Given the description of an element on the screen output the (x, y) to click on. 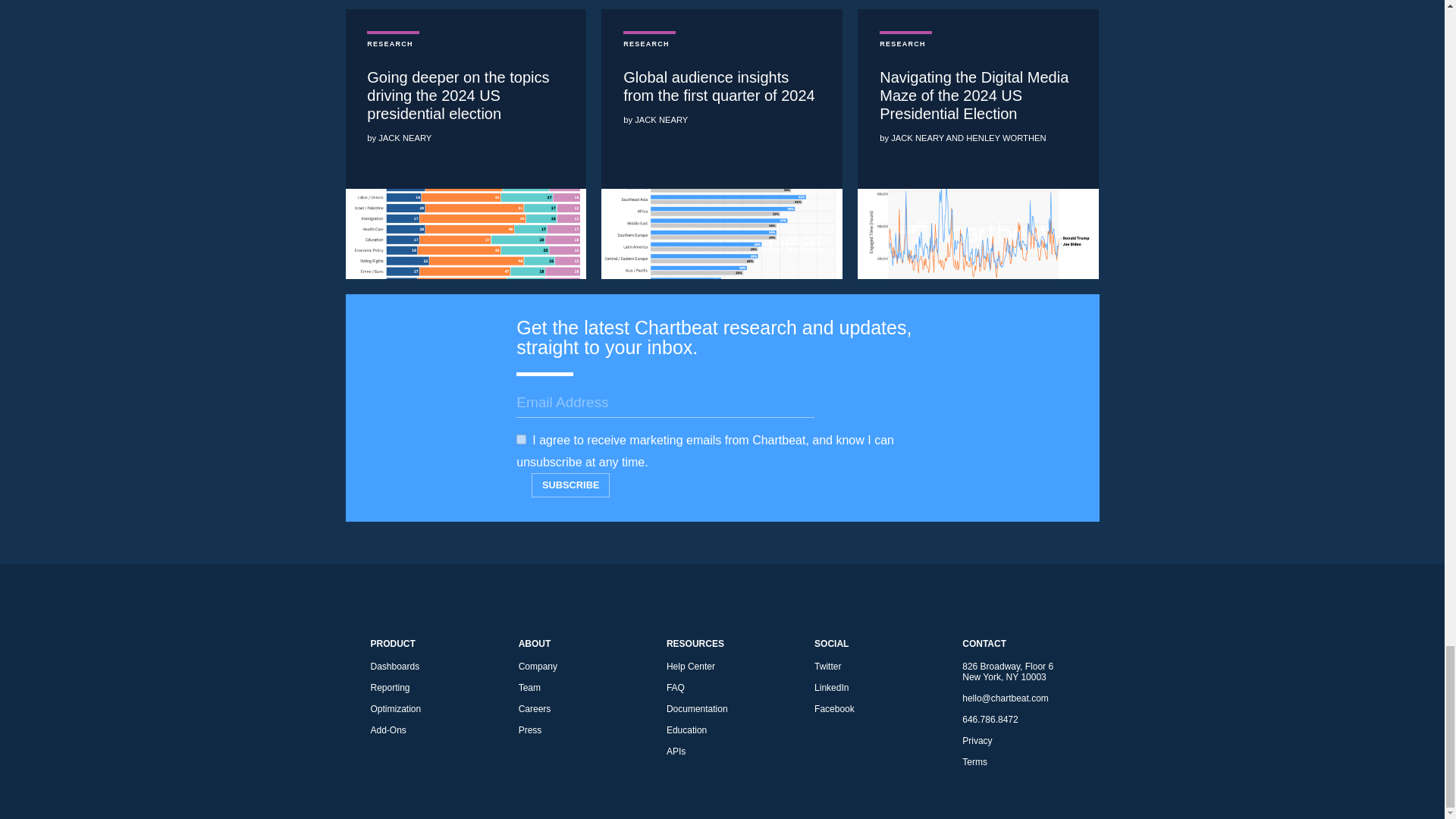
Reporting (425, 687)
Dashboards (425, 666)
Subscribe (570, 485)
true (520, 439)
Subscribe (570, 485)
